Given the description of an element on the screen output the (x, y) to click on. 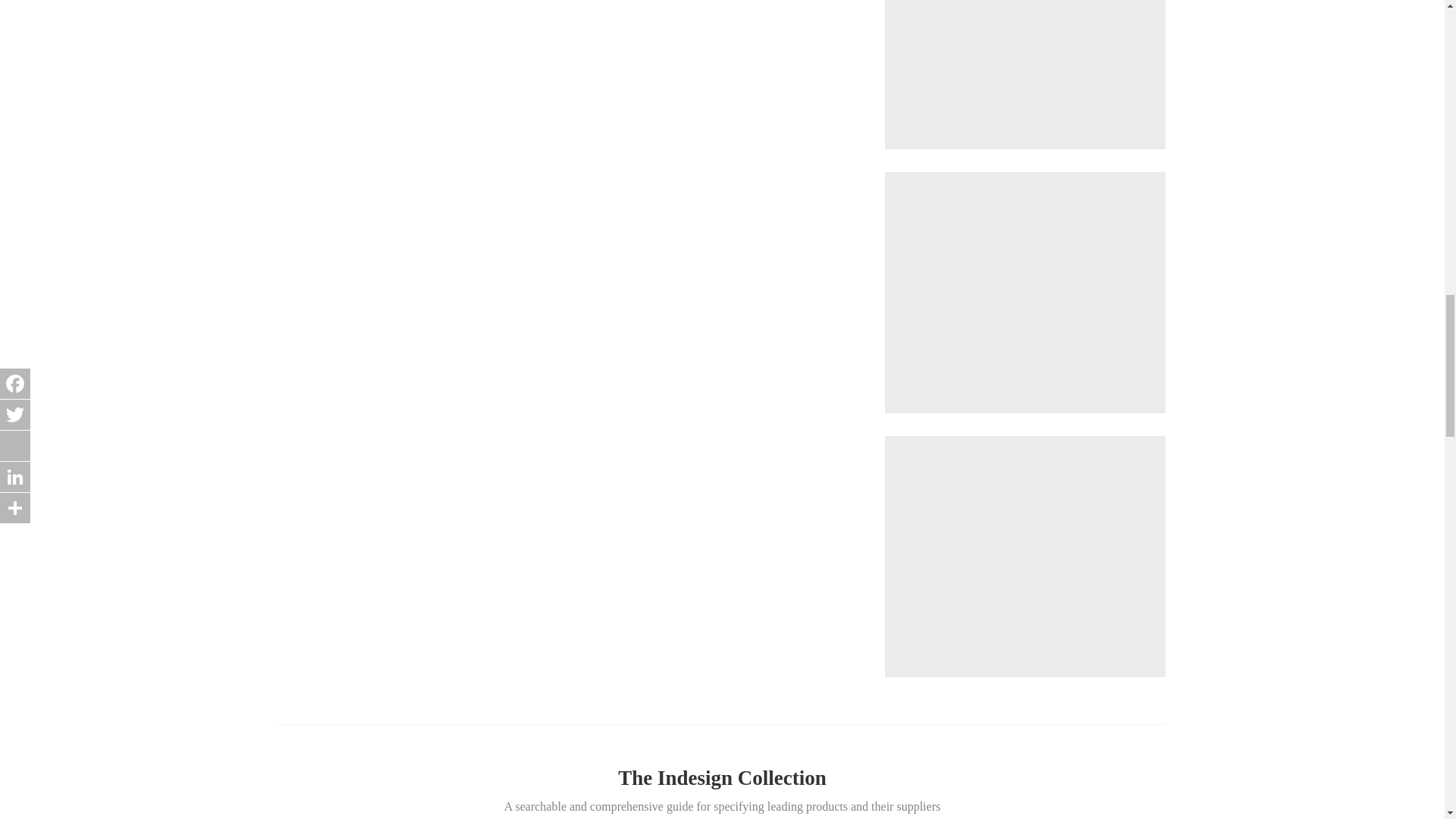
3rd party ad content (1024, 61)
